Given the description of an element on the screen output the (x, y) to click on. 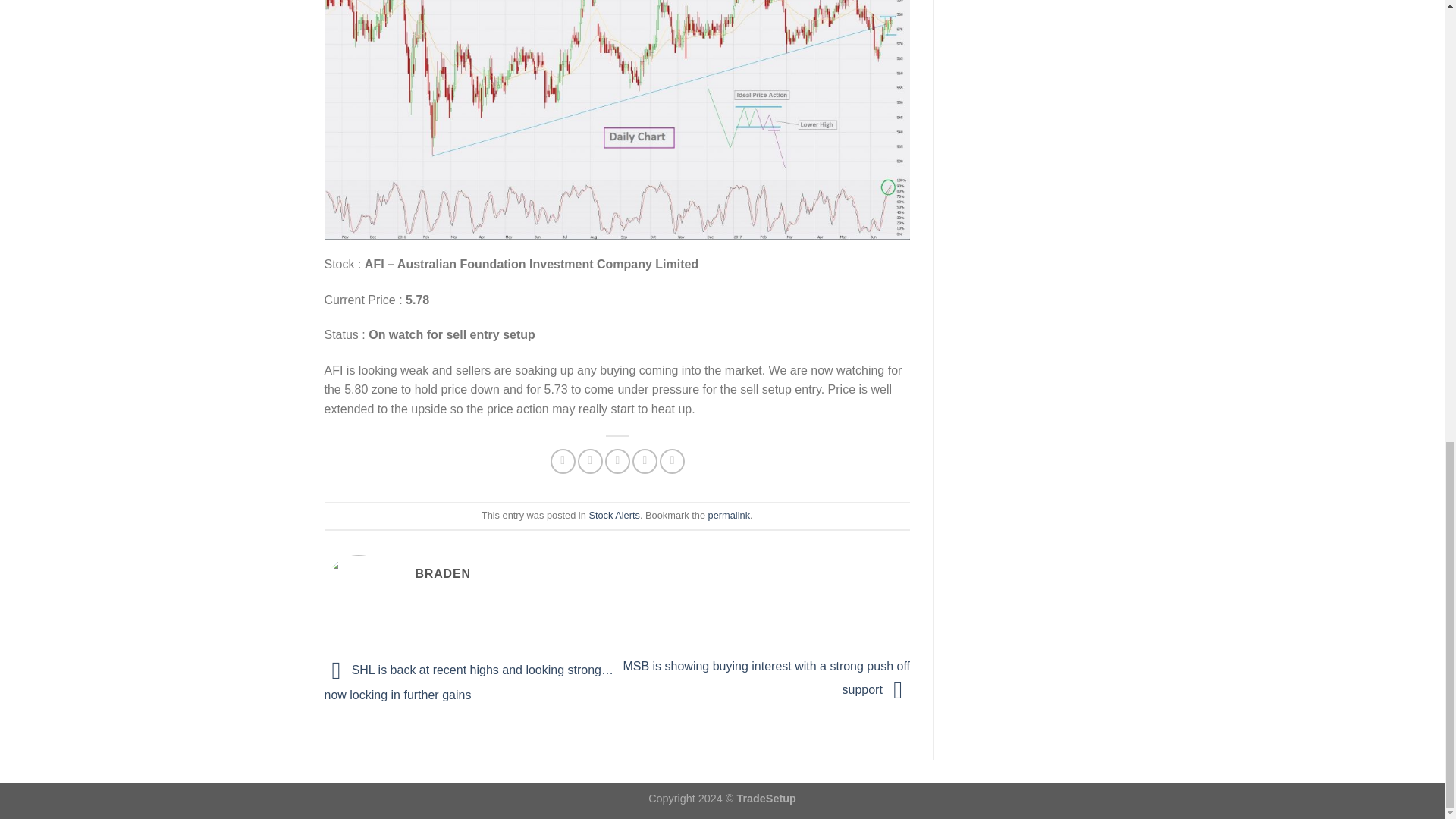
Pin on Pinterest (644, 461)
permalink (728, 514)
Stock Alerts (614, 514)
Share on LinkedIn (671, 461)
Email to a Friend (617, 461)
Share on Facebook (562, 461)
Share on Twitter (590, 461)
